Given the description of an element on the screen output the (x, y) to click on. 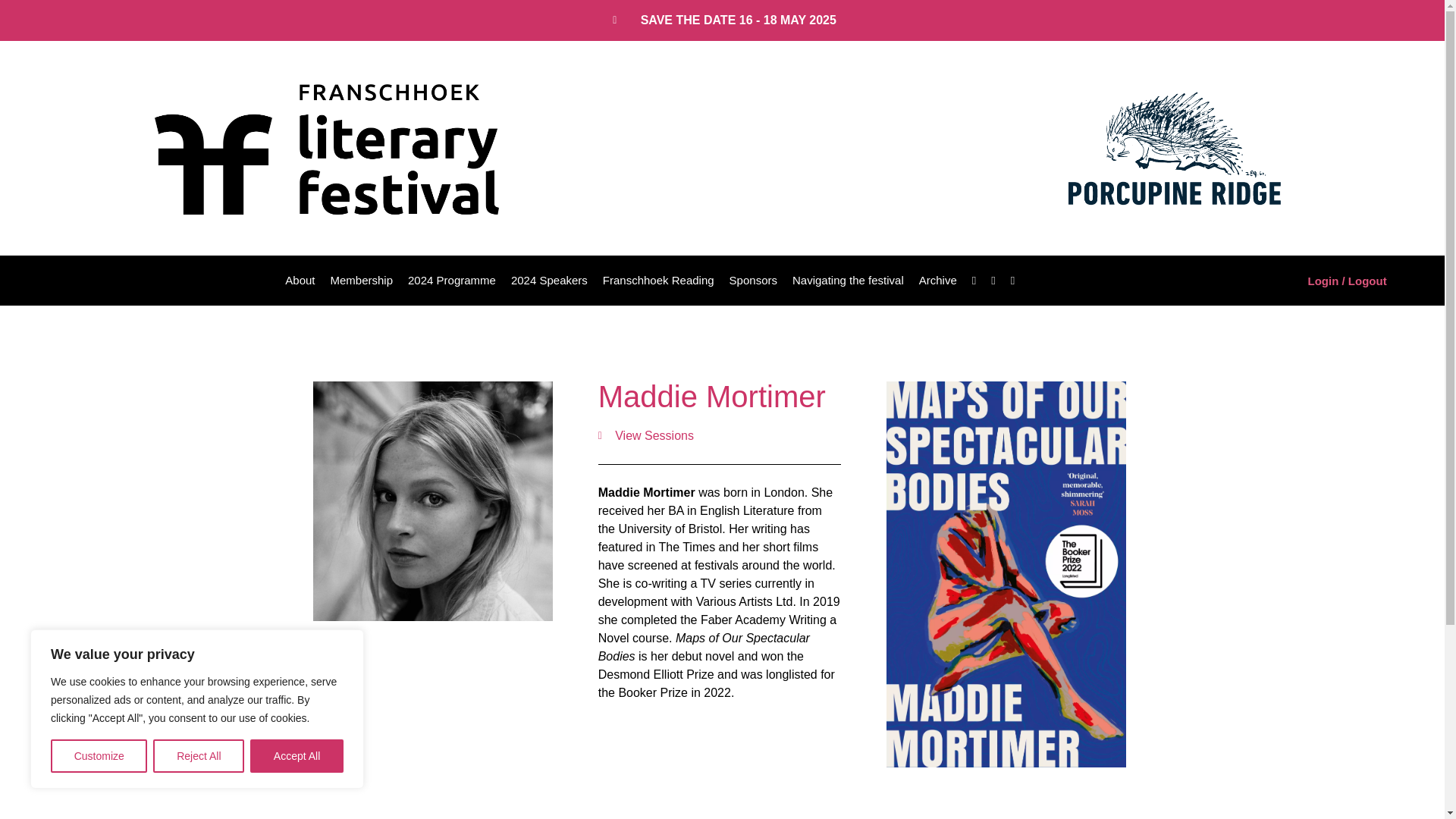
Sponsors (753, 280)
Customize (98, 756)
Accept All (296, 756)
Franschhoek Reading (658, 280)
About (299, 280)
2024 Speakers (549, 280)
Reject All (198, 756)
Membership (360, 280)
2024 Programme (451, 280)
Navigating the festival (847, 280)
